Given the description of an element on the screen output the (x, y) to click on. 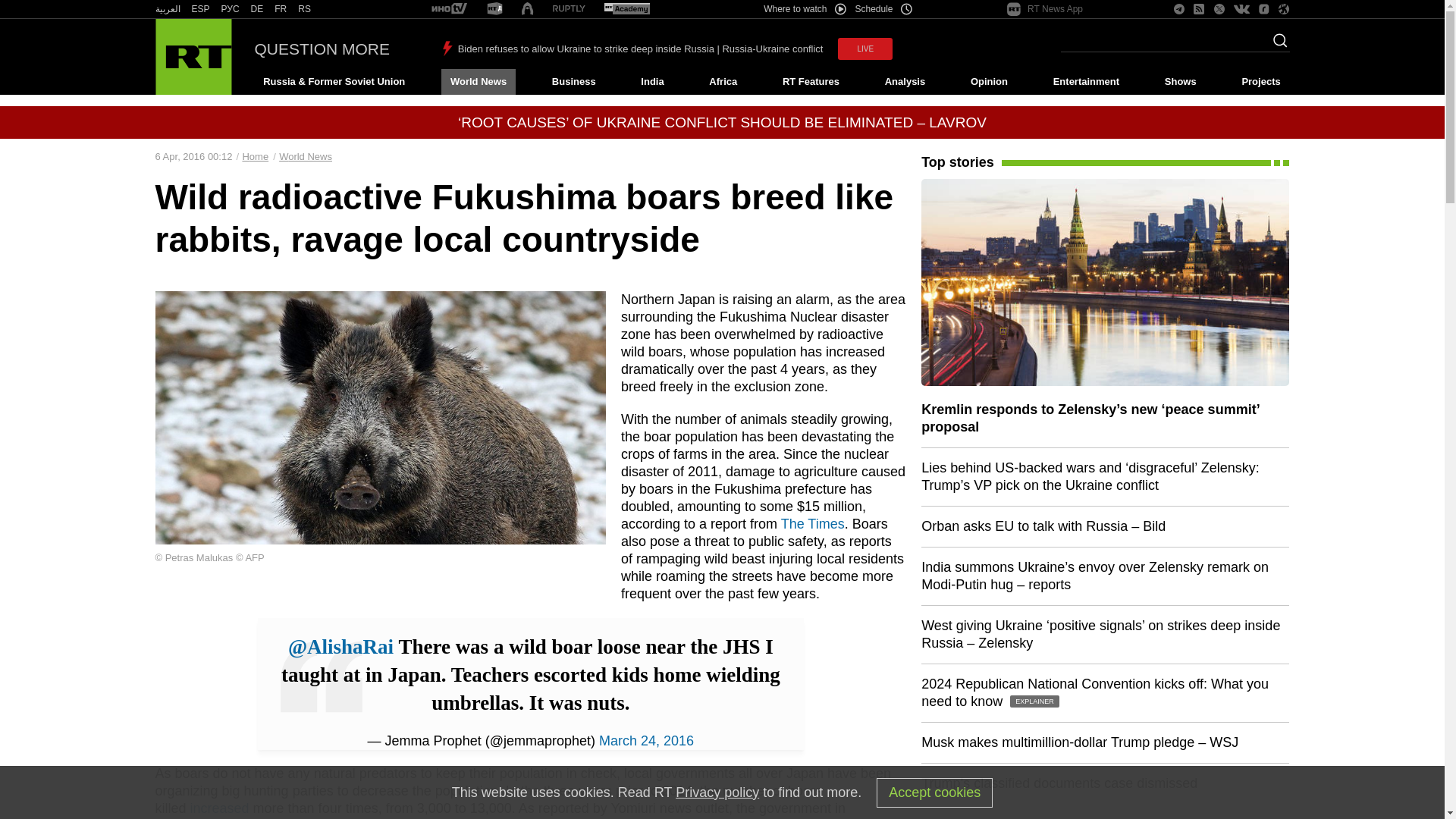
Africa (722, 81)
RT  (230, 9)
RT Features (810, 81)
FR (280, 9)
LIVE (865, 48)
ESP (199, 9)
Schedule (884, 9)
RT  (199, 9)
India (651, 81)
RT  (256, 9)
RT  (304, 9)
World News (478, 81)
RT  (280, 9)
RT News App (1045, 9)
RT  (494, 9)
